Given the description of an element on the screen output the (x, y) to click on. 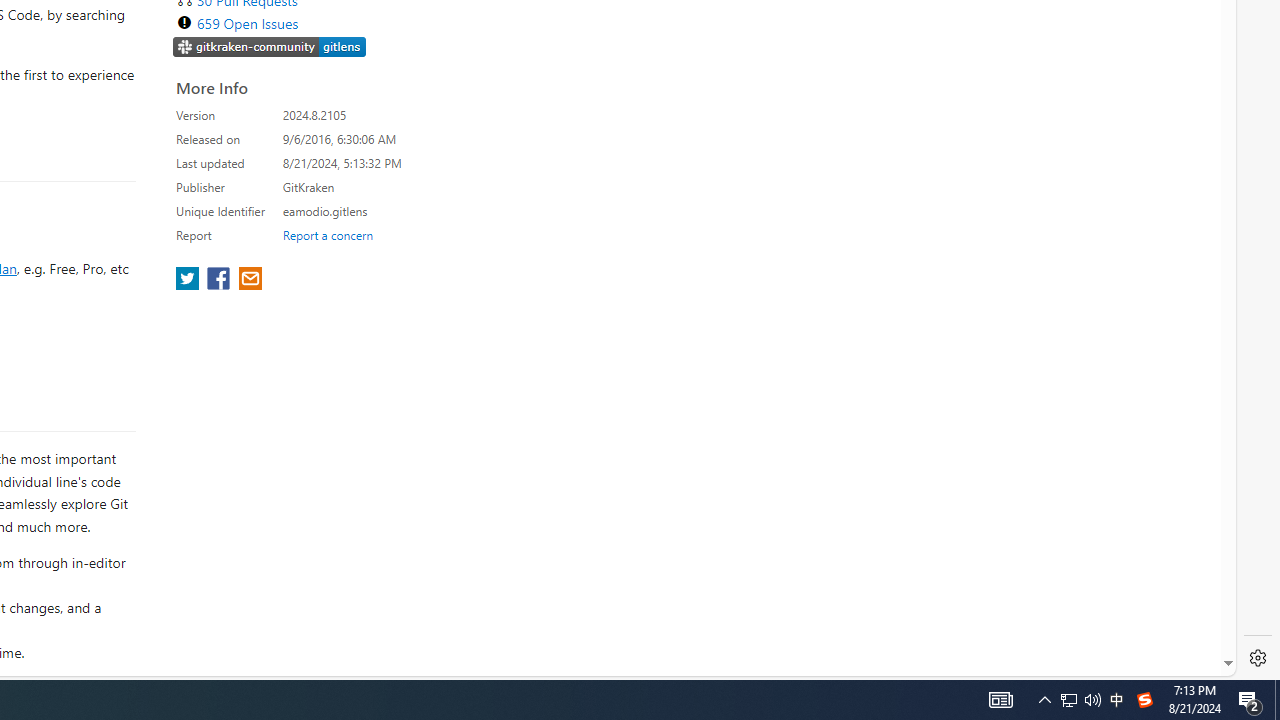
share extension on facebook (220, 280)
Report a concern (327, 234)
Settings (1258, 658)
share extension on email (249, 280)
https://slack.gitkraken.com// (269, 48)
share extension on twitter (190, 280)
https://slack.gitkraken.com// (269, 46)
